Given the description of an element on the screen output the (x, y) to click on. 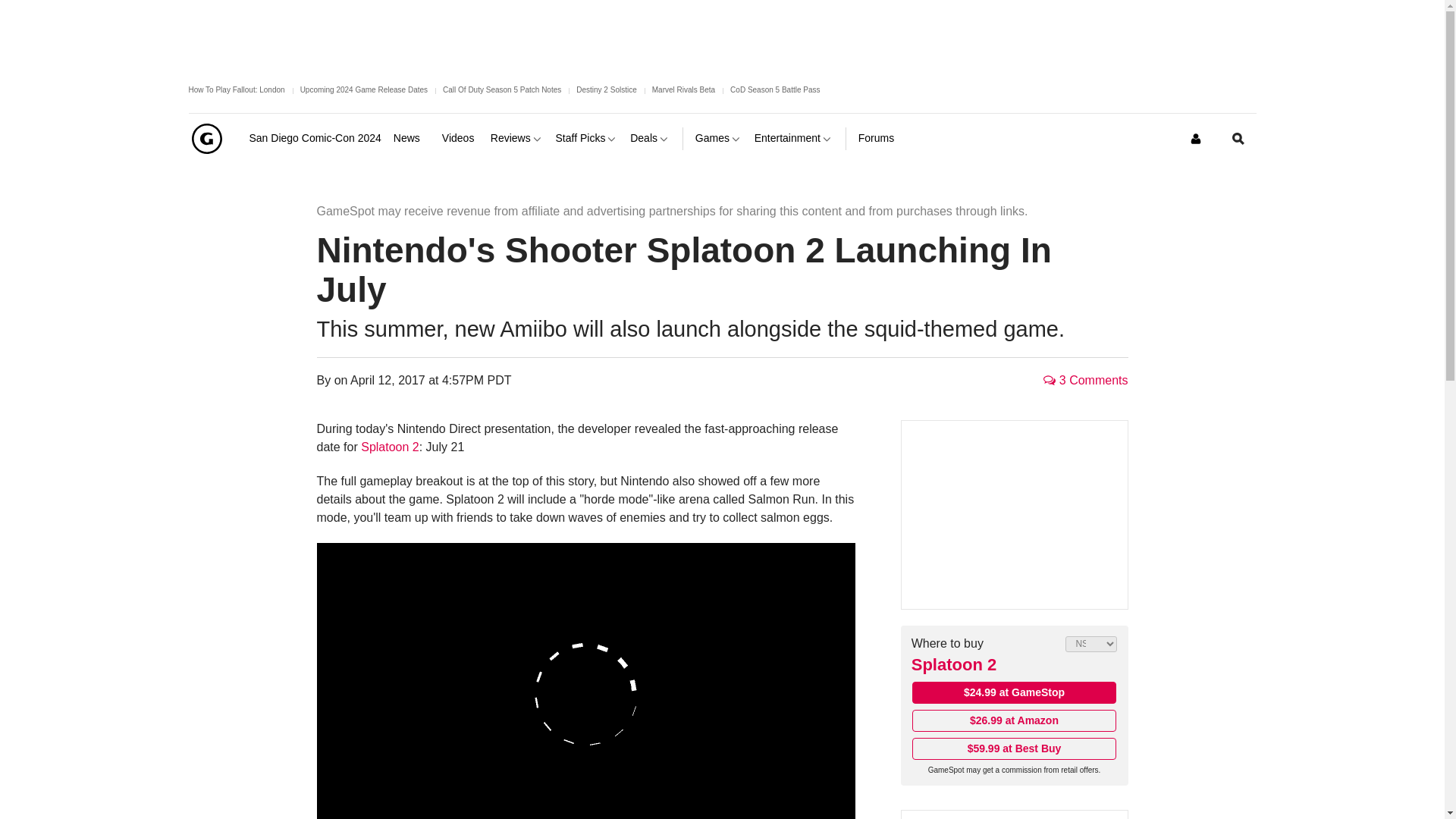
Marvel Rivals Beta (683, 89)
San Diego Comic-Con 2024 (314, 138)
Videos (460, 138)
News (411, 138)
Deals (649, 138)
Games (718, 138)
Call Of Duty Season 5 Patch Notes (501, 89)
Staff Picks (587, 138)
Reviews (516, 138)
CoD Season 5 Battle Pass (774, 89)
GameSpot (205, 138)
Destiny 2 Solstice (606, 89)
Upcoming 2024 Game Release Dates (363, 89)
